Given the description of an element on the screen output the (x, y) to click on. 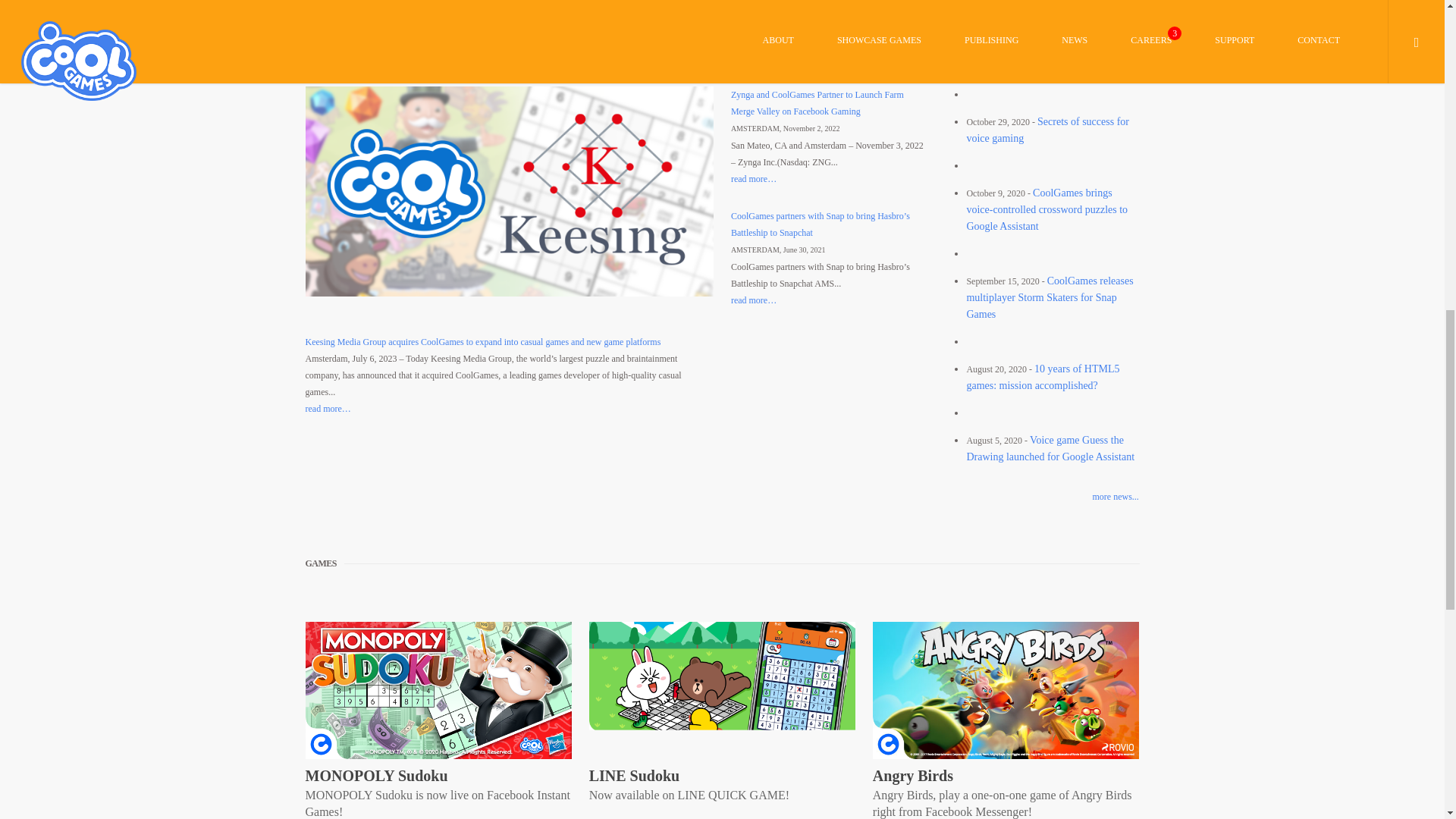
more news... (1040, 496)
October 29, 2020 - Secrets of success for voice gaming (1047, 130)
